Given the description of an element on the screen output the (x, y) to click on. 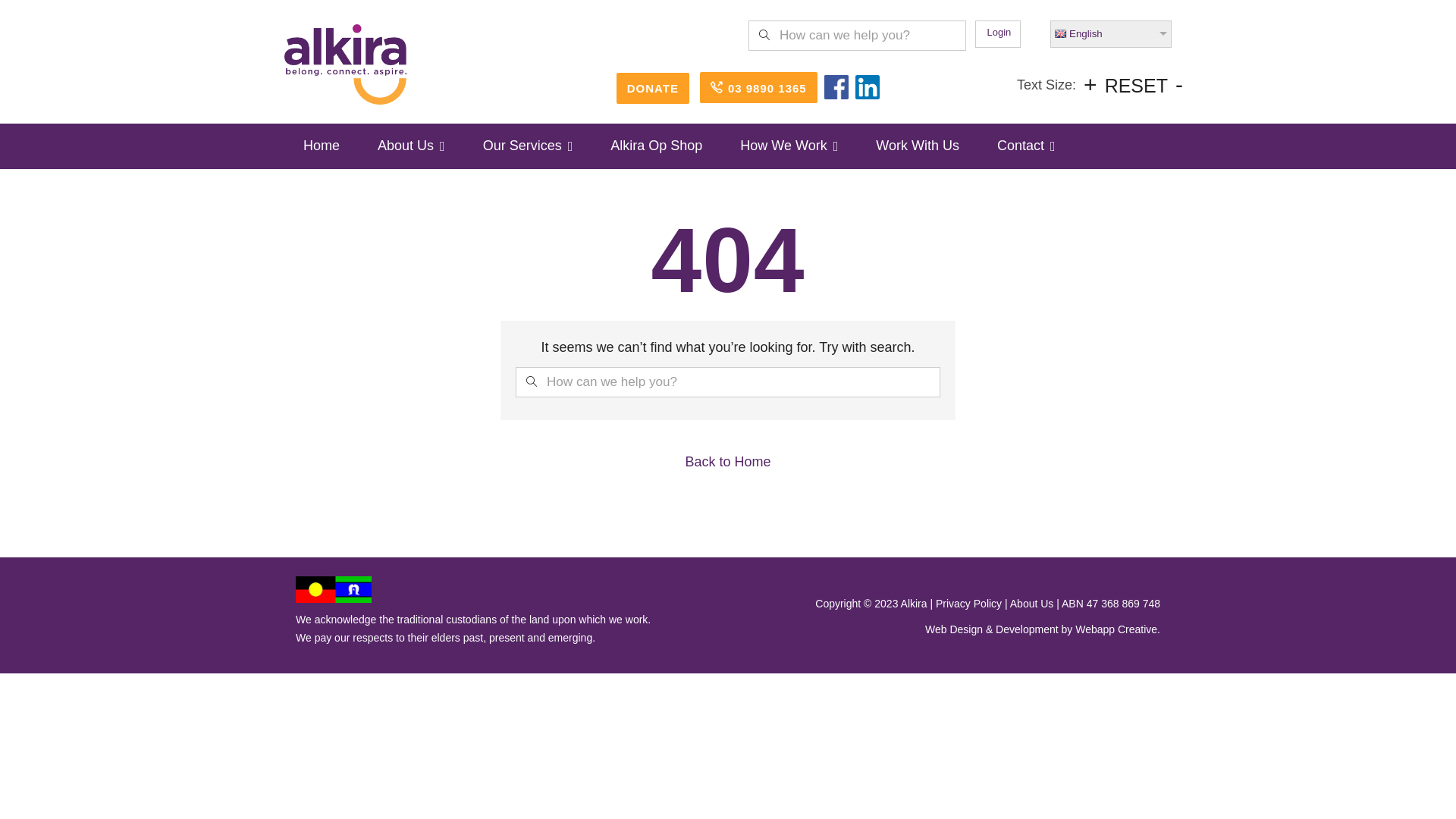
Login Element type: text (999, 31)
- Element type: text (1179, 84)
English Element type: text (1110, 33)
Our Services Element type: text (528, 146)
How We Work Element type: text (788, 146)
Work With Us Element type: text (917, 146)
About Us Element type: text (411, 146)
Back to Home Element type: text (727, 462)
Contact Element type: text (1026, 146)
RESET Element type: text (1135, 85)
About Us Element type: text (1032, 603)
Privacy Policy Element type: text (968, 603)
+ Element type: text (1090, 84)
DONATE Element type: text (652, 87)
Alkira Op Shop Element type: text (656, 146)
Webapp Creative Element type: text (1116, 629)
03 9890 1365 Element type: text (758, 87)
Alkira Element type: hover (345, 64)
Home Element type: text (321, 146)
